Given the description of an element on the screen output the (x, y) to click on. 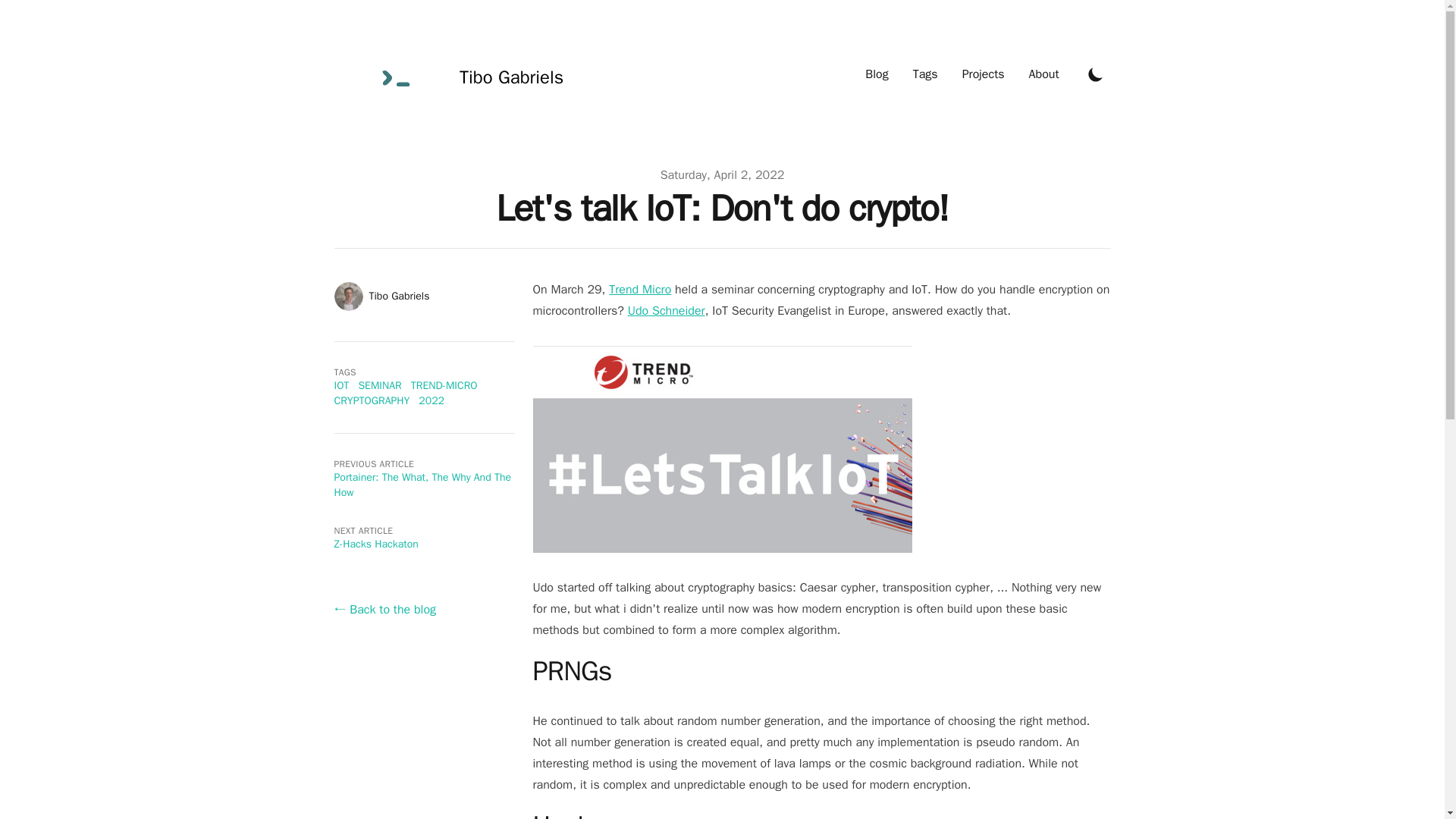
TREND-MICRO (443, 385)
Blog (876, 74)
SEMINAR (379, 385)
IOT (341, 385)
Projects (983, 74)
Tibo Gabriels (448, 73)
Portainer: The What, The Why And The How (422, 484)
Tags (925, 74)
Z-Hacks Hackaton (375, 543)
2022 (431, 400)
